Given the description of an element on the screen output the (x, y) to click on. 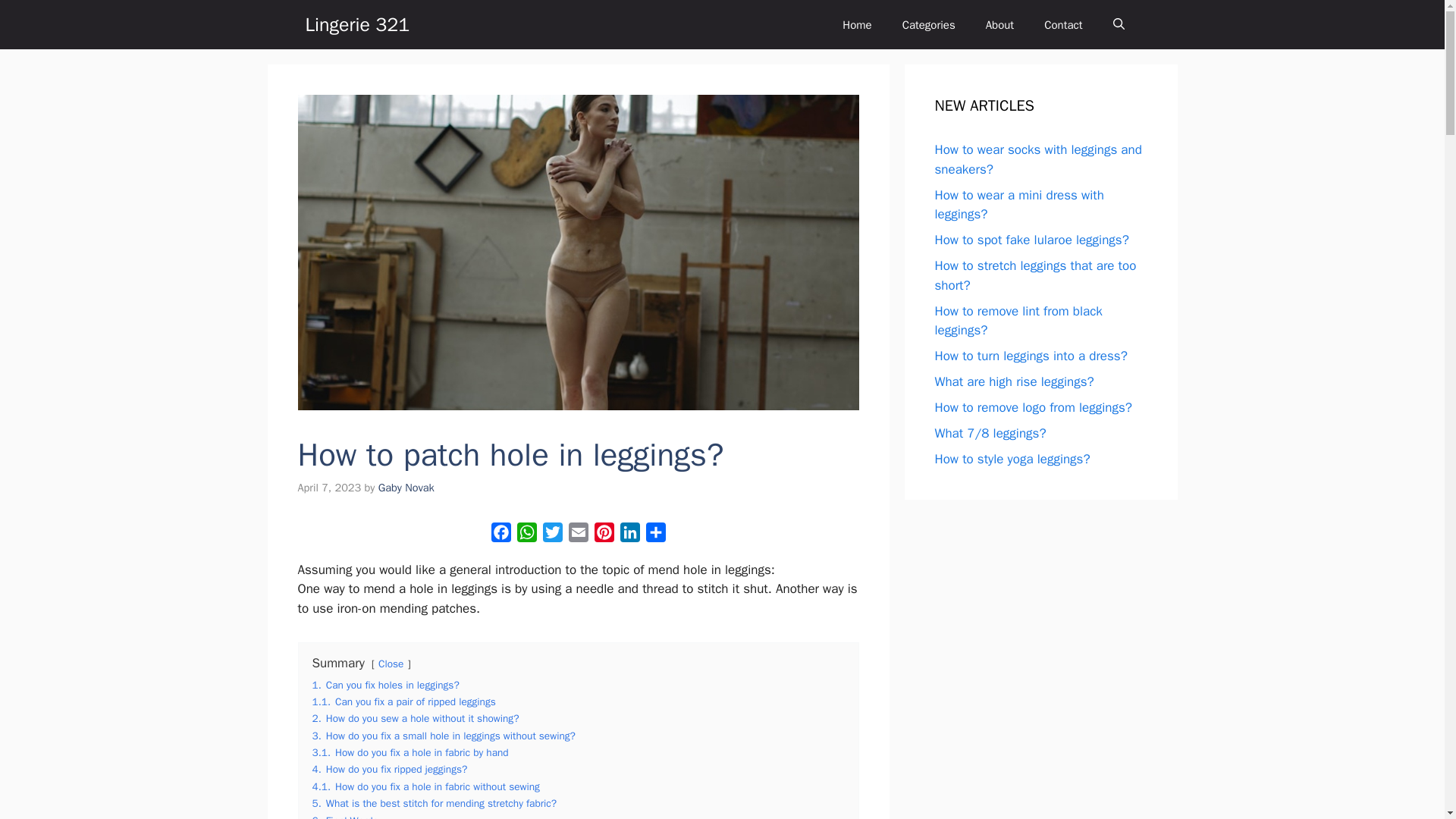
1. Can you fix holes in leggings? (386, 684)
Gaby Novak (405, 487)
Facebook (500, 534)
Pinterest (604, 534)
1.1. Can you fix a pair of ripped leggings (404, 701)
WhatsApp (526, 534)
Email (578, 534)
4.1. How do you fix a hole in fabric without sewing (426, 786)
Close (390, 663)
Twitter (553, 534)
3.1. How do you fix a hole in fabric by hand (410, 752)
Lingerie 321 (356, 24)
View all posts by Gaby Novak (405, 487)
Twitter (553, 534)
6. Final Words (345, 816)
